Given the description of an element on the screen output the (x, y) to click on. 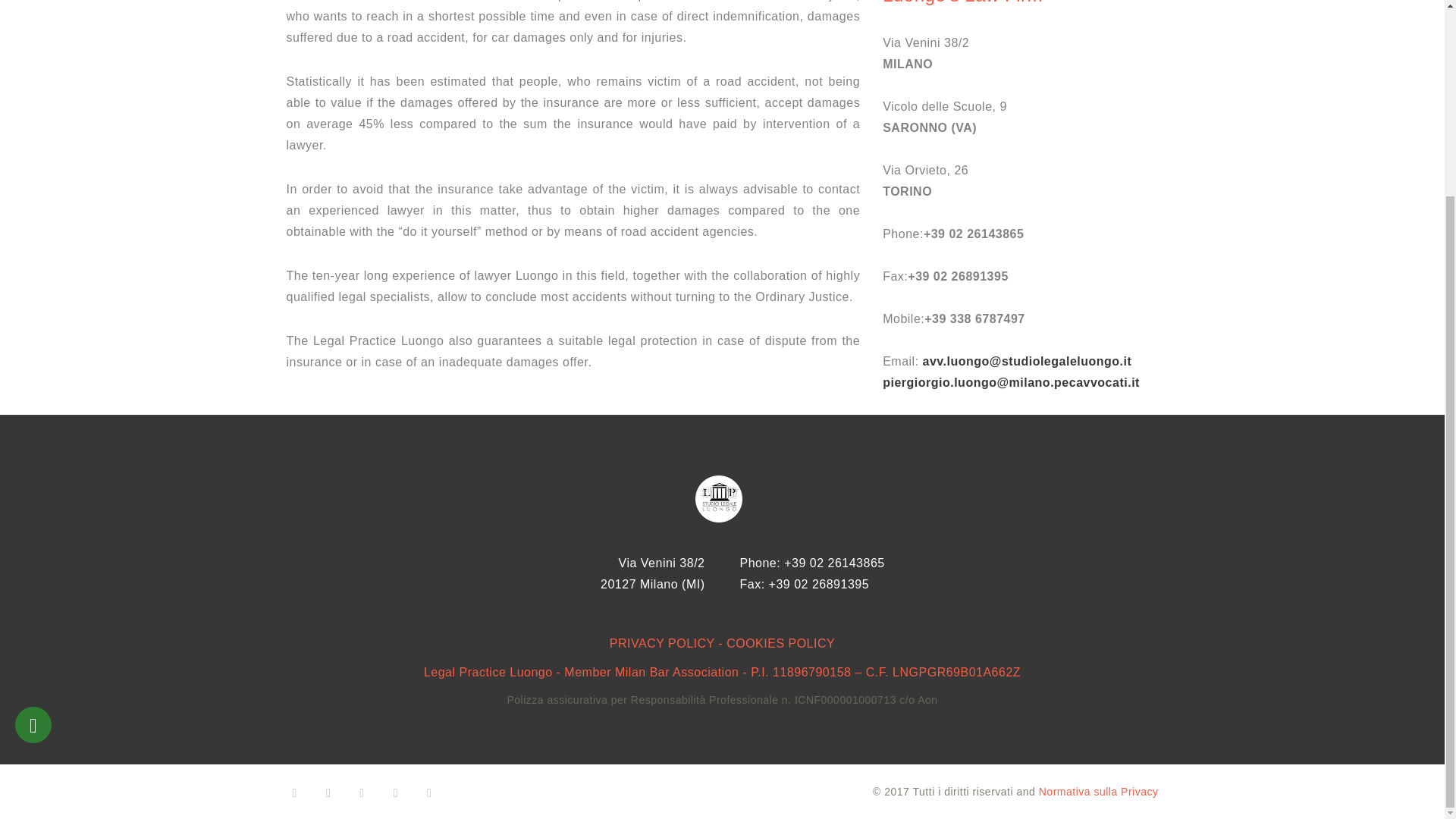
COOKIES POLICY (780, 643)
PRIVACY POLICY (662, 643)
